Given the description of an element on the screen output the (x, y) to click on. 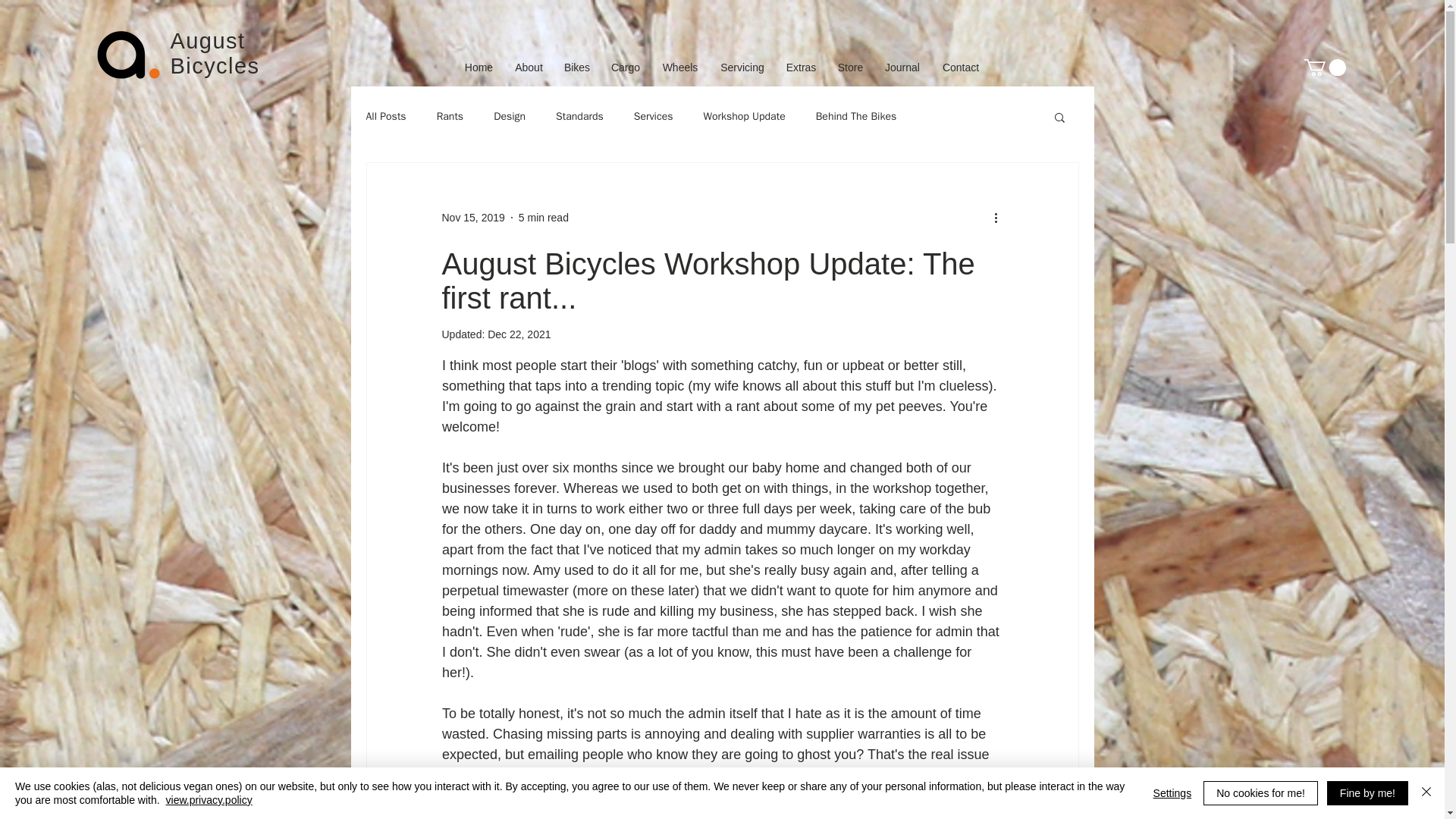
Wheels (679, 67)
5 min read (543, 217)
Home (477, 67)
Workshop Update (743, 116)
Store (850, 67)
Design (509, 116)
Journal (901, 67)
view.privacy.policy (208, 799)
Services (652, 116)
Standards (580, 116)
Behind The Bikes (855, 116)
About (528, 67)
Rants (450, 116)
No cookies for me! (1260, 793)
Fine by me! (1366, 793)
